Given the description of an element on the screen output the (x, y) to click on. 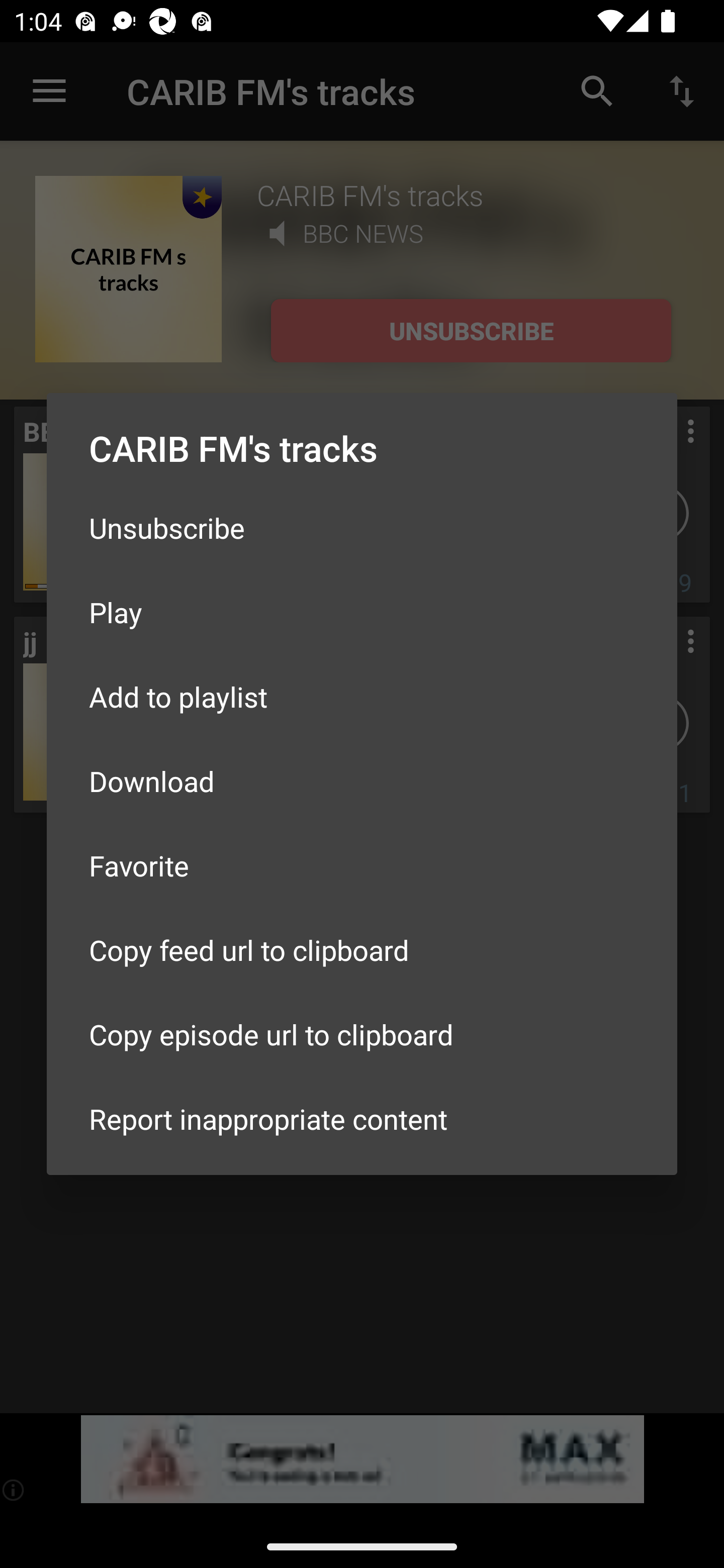
Unsubscribe (361, 527)
Play (361, 611)
Add to playlist (361, 695)
Download (361, 780)
Favorite (361, 865)
Copy feed url to clipboard (361, 949)
Copy episode url to clipboard (361, 1034)
Report inappropriate content (361, 1118)
